Given the description of an element on the screen output the (x, y) to click on. 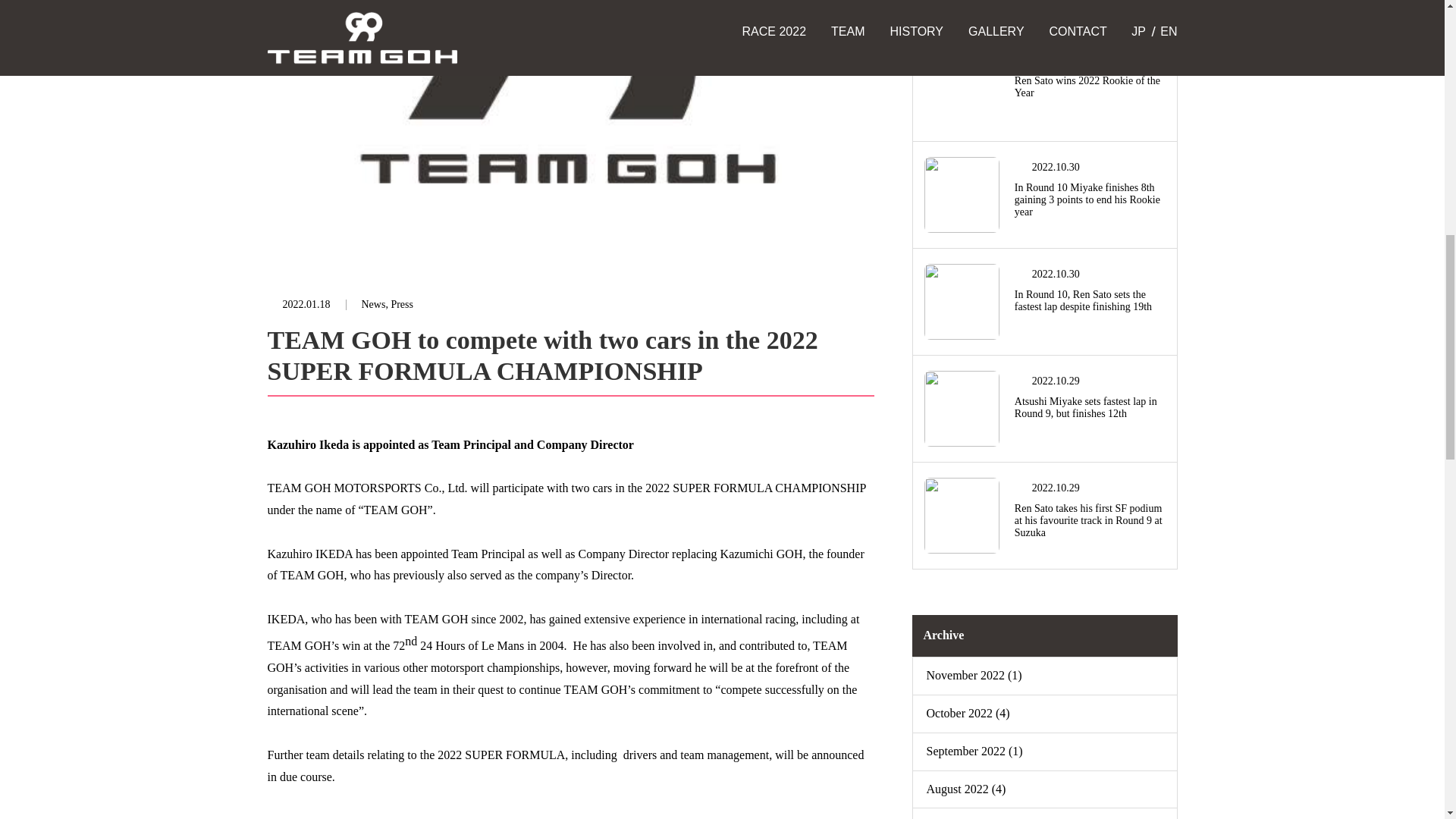
Ren Sato wins 2022 Rookie of the Year (1090, 87)
